Given the description of an element on the screen output the (x, y) to click on. 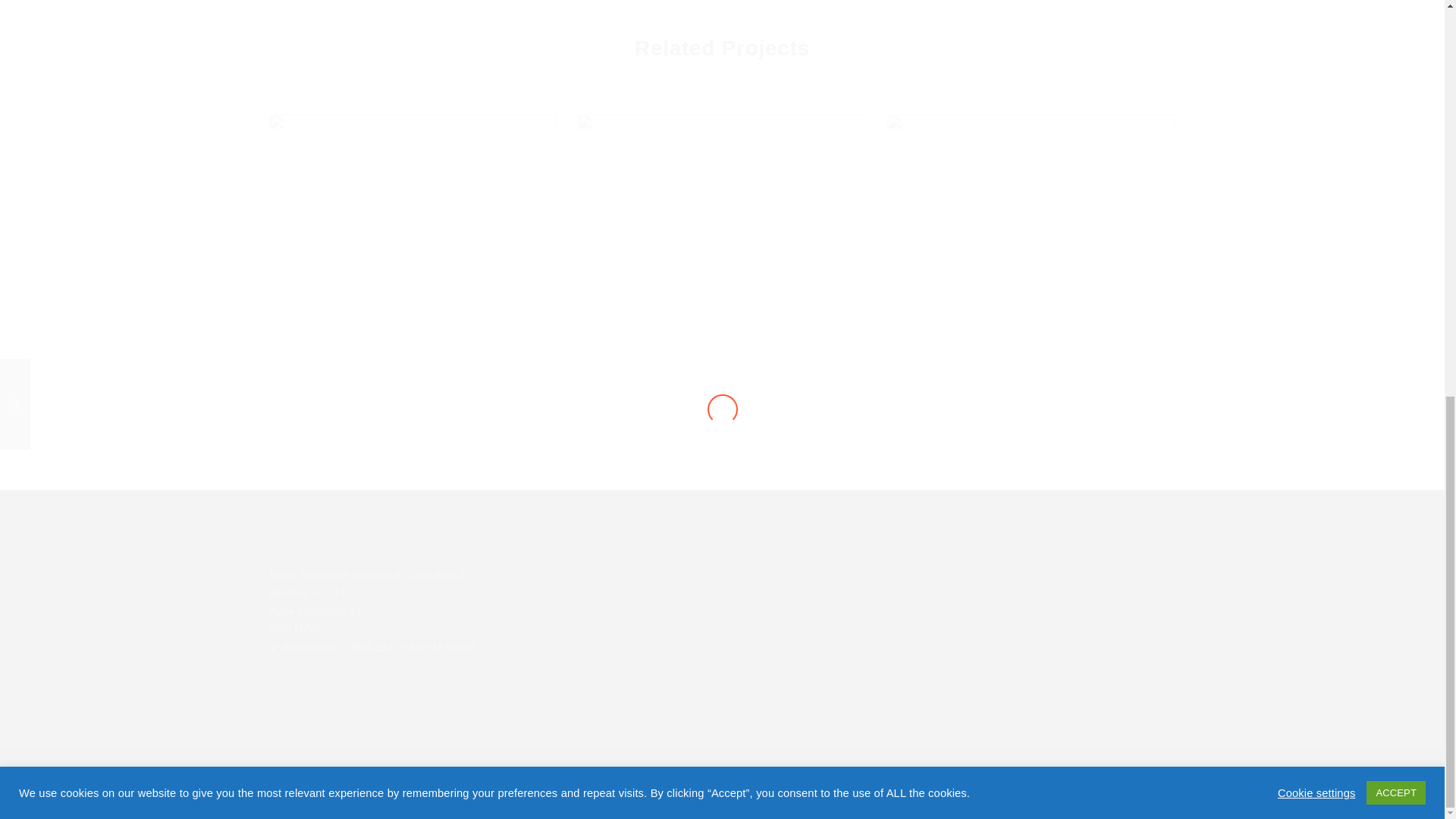
Permalink to: "UMONS Career Day" (1030, 206)
ACCEPT (1396, 25)
CLOSE (721, 18)
Permalink to: "CuDB" (411, 256)
Permalink to: "Oh My Box" (722, 256)
Cookie Policy (1087, 783)
Cookie settings (1316, 25)
GDPR (1160, 783)
